Given the description of an element on the screen output the (x, y) to click on. 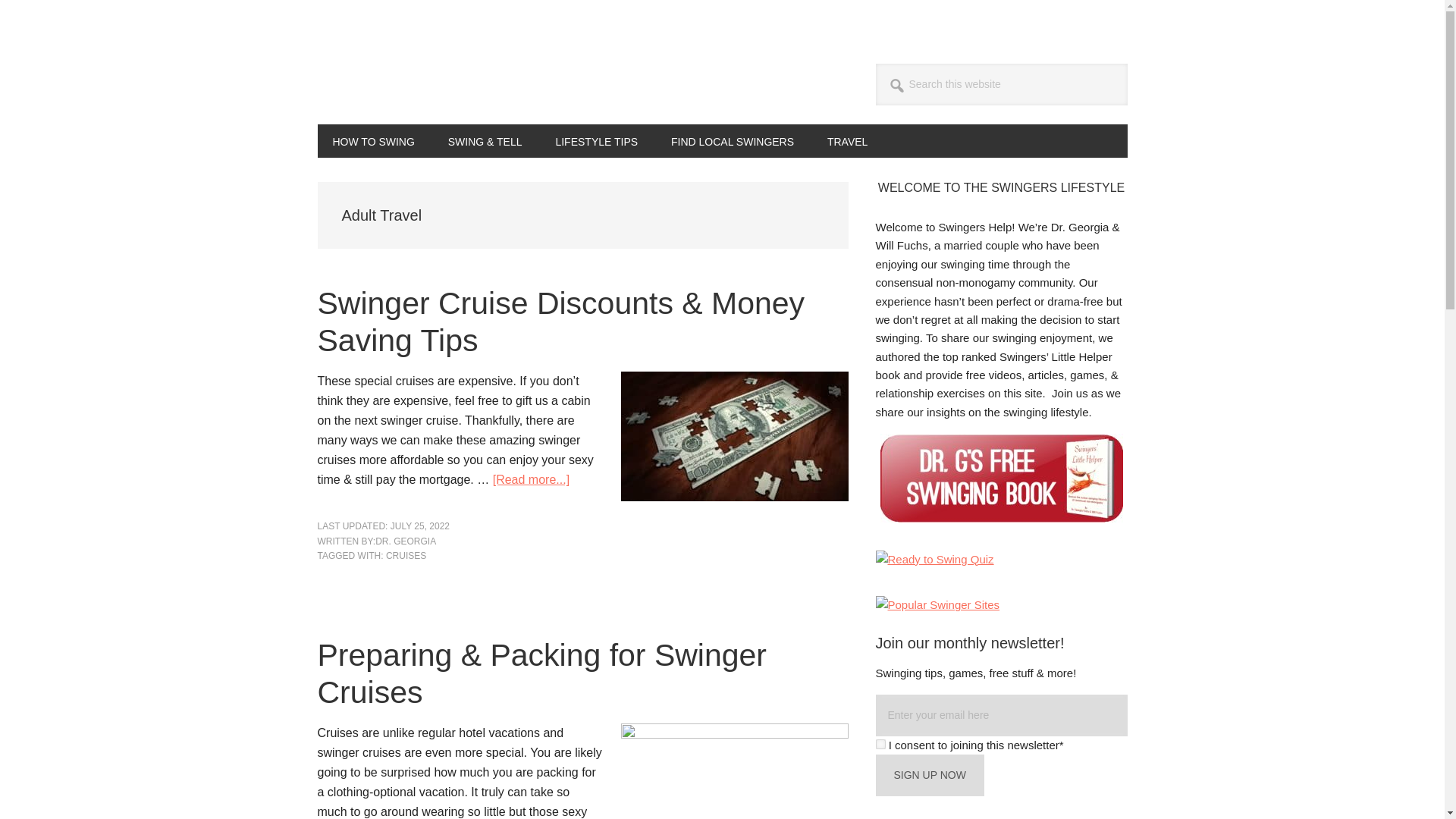
LIFESTYLE TIPS (596, 141)
on (880, 744)
Sign Up Now (929, 775)
SWINGERS HELP (419, 81)
CRUISES (405, 555)
TRAVEL (847, 141)
Enter your email here (1000, 715)
FIND LOCAL SWINGERS (732, 141)
